Given the description of an element on the screen output the (x, y) to click on. 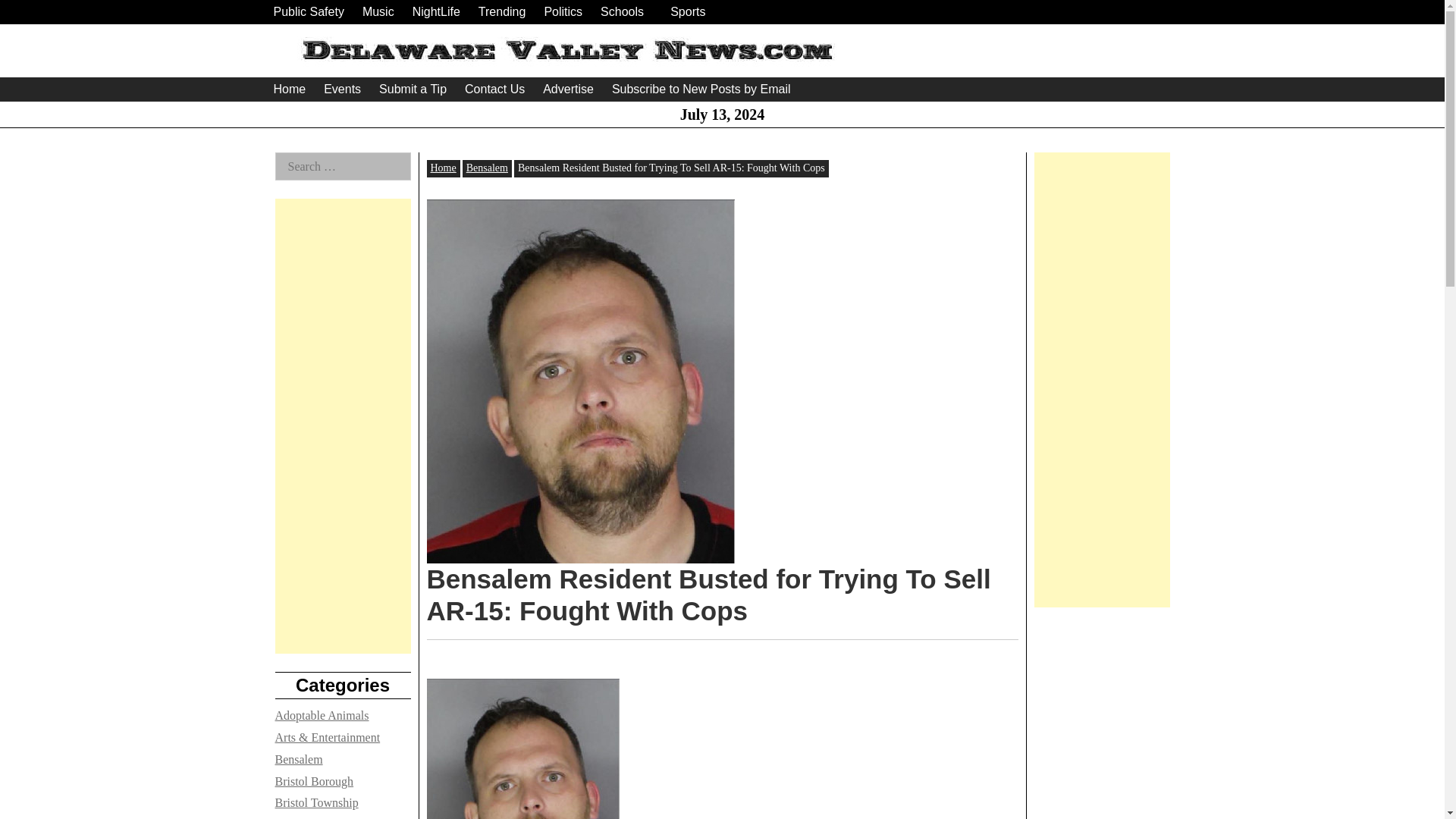
Music (378, 12)
NightLife (435, 12)
Subscribe to New Posts by Email (700, 88)
Submit a Tip (412, 88)
Trending (501, 12)
Contact Us (494, 88)
Schools (621, 12)
Home (443, 167)
Bensalem (486, 167)
Politics (562, 12)
Search (29, 13)
Events (341, 88)
Home (288, 88)
Advertise (568, 88)
Public Safety (307, 12)
